Given the description of an element on the screen output the (x, y) to click on. 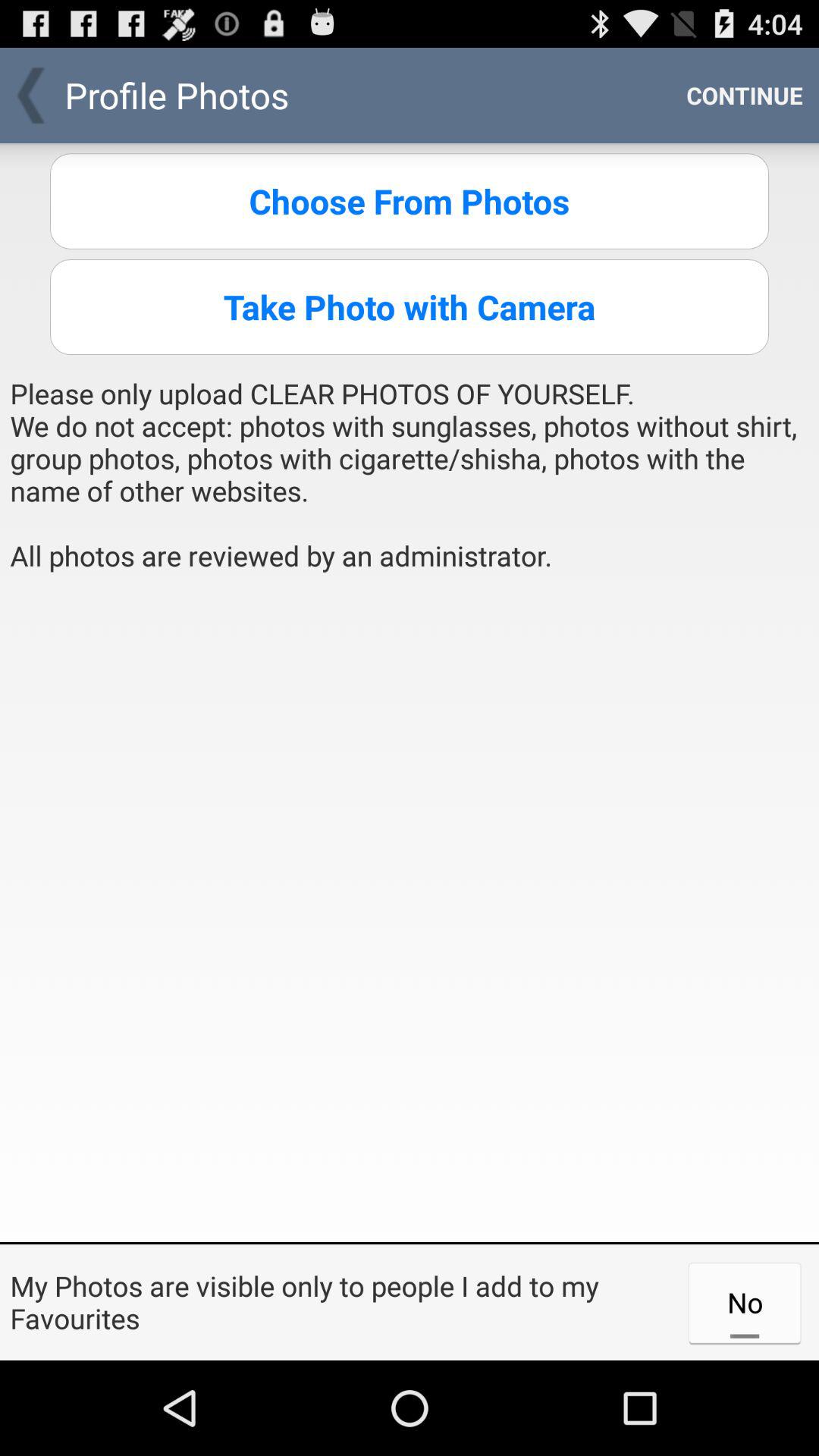
open take photo with (409, 306)
